Given the description of an element on the screen output the (x, y) to click on. 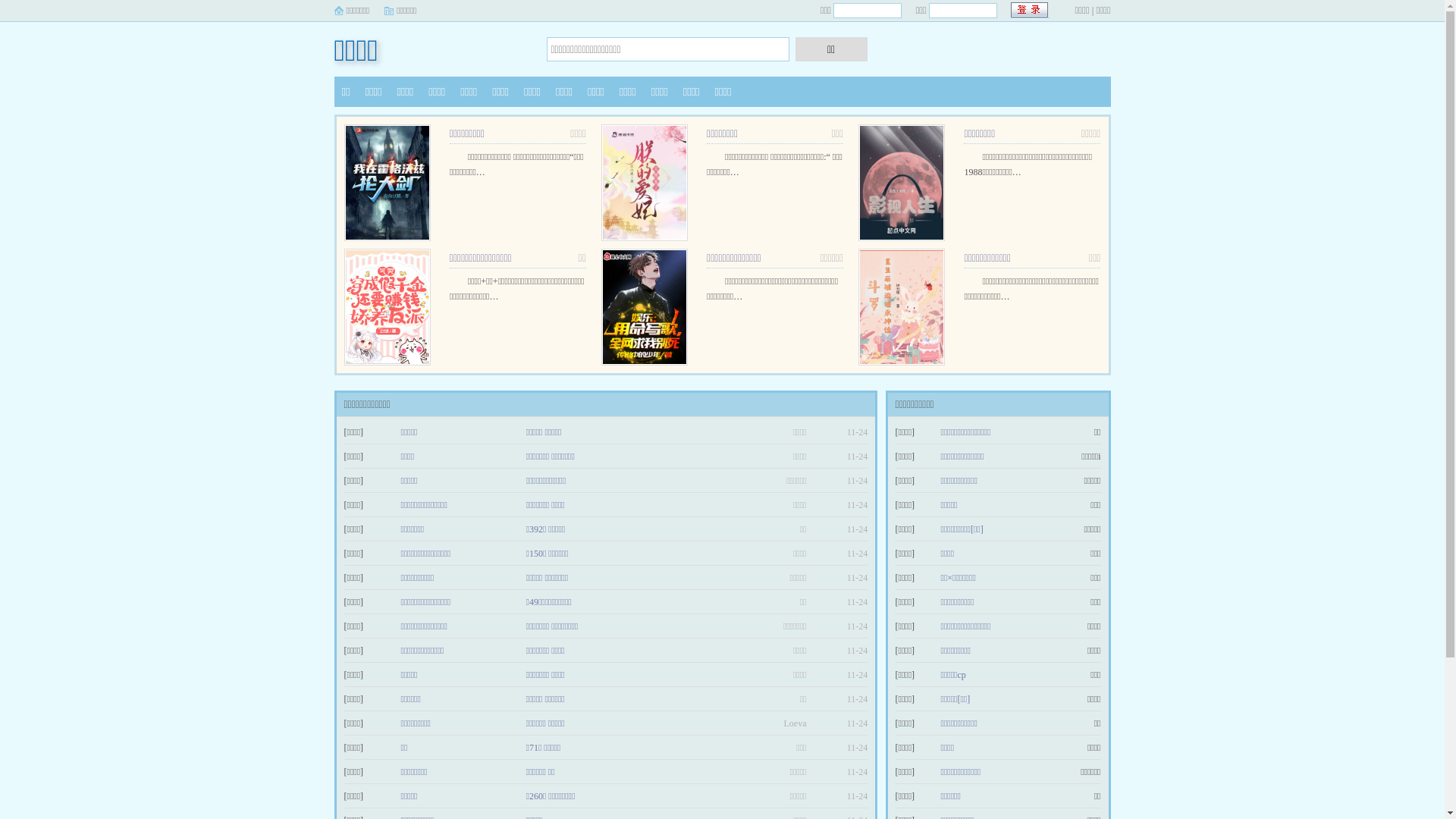
  Element type: text (1029, 10)
